Given the description of an element on the screen output the (x, y) to click on. 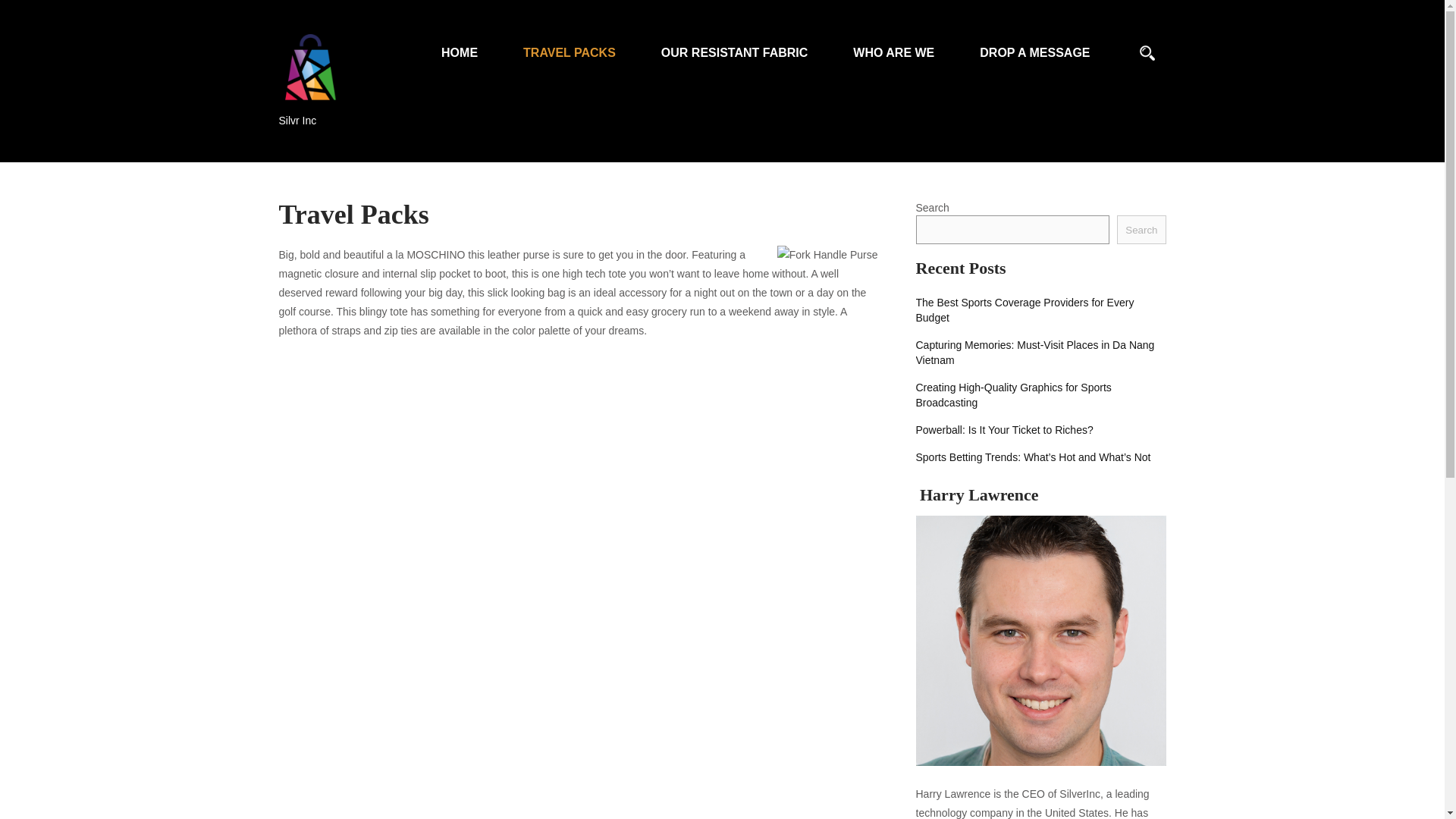
OUR RESISTANT FABRIC (734, 43)
WHO ARE WE (892, 43)
TRAVEL PACKS (569, 43)
Search (1141, 229)
The Best Sports Coverage Providers for Every Budget (1040, 309)
Silvr Inc (314, 114)
DROP A MESSAGE (1034, 43)
Powerball: Is It Your Ticket to Riches? (1004, 429)
Capturing Memories: Must-Visit Places in Da Nang Vietnam (1040, 352)
HOME (459, 43)
